Given the description of an element on the screen output the (x, y) to click on. 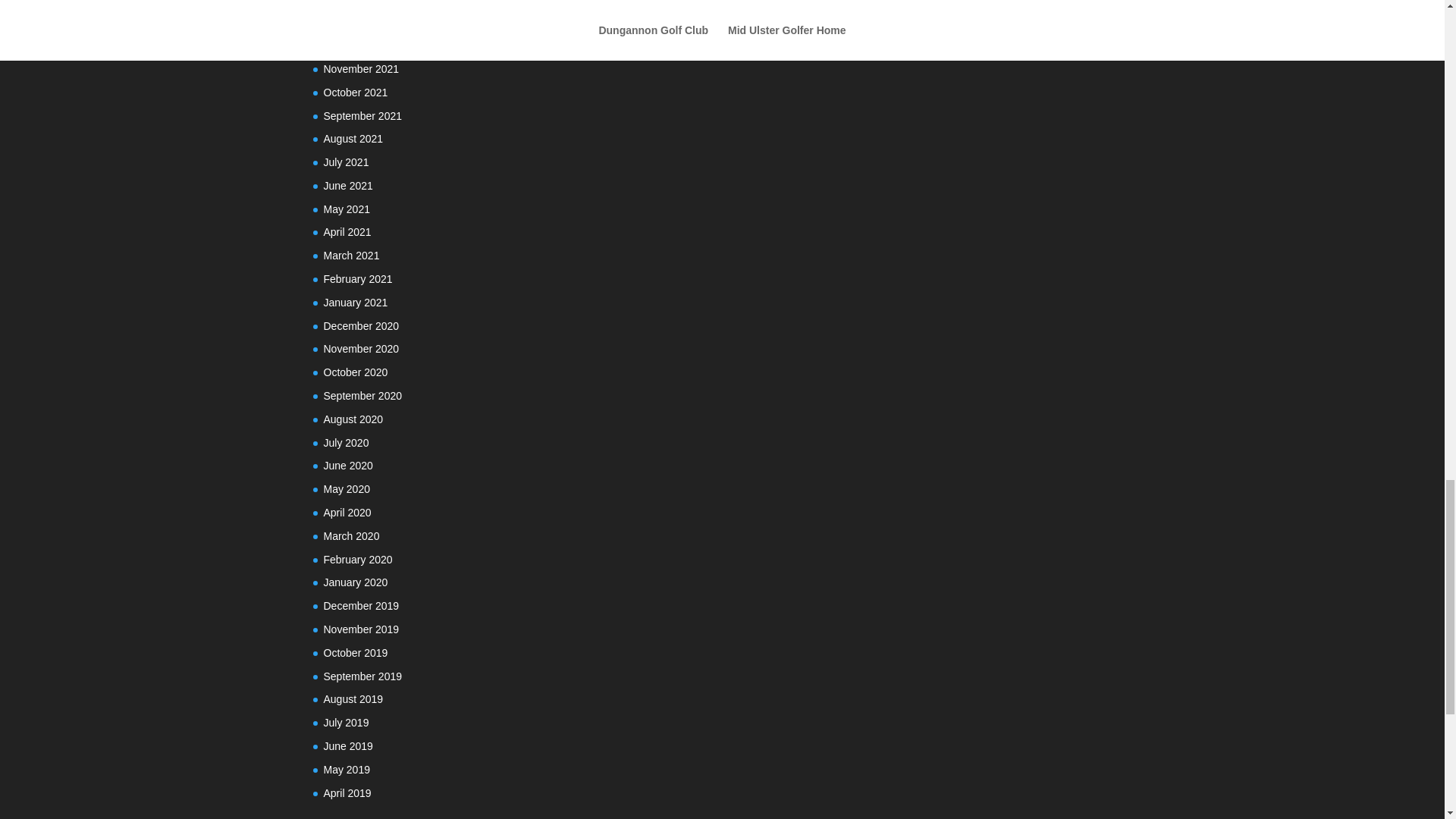
May 2021 (346, 209)
February 2021 (357, 278)
September 2021 (362, 114)
January 2021 (355, 302)
December 2021 (360, 45)
January 2022 (355, 21)
February 2022 (357, 2)
March 2021 (350, 255)
November 2021 (360, 69)
August 2021 (352, 138)
October 2021 (355, 92)
July 2021 (345, 162)
December 2020 (360, 326)
April 2021 (347, 232)
June 2021 (347, 185)
